Given the description of an element on the screen output the (x, y) to click on. 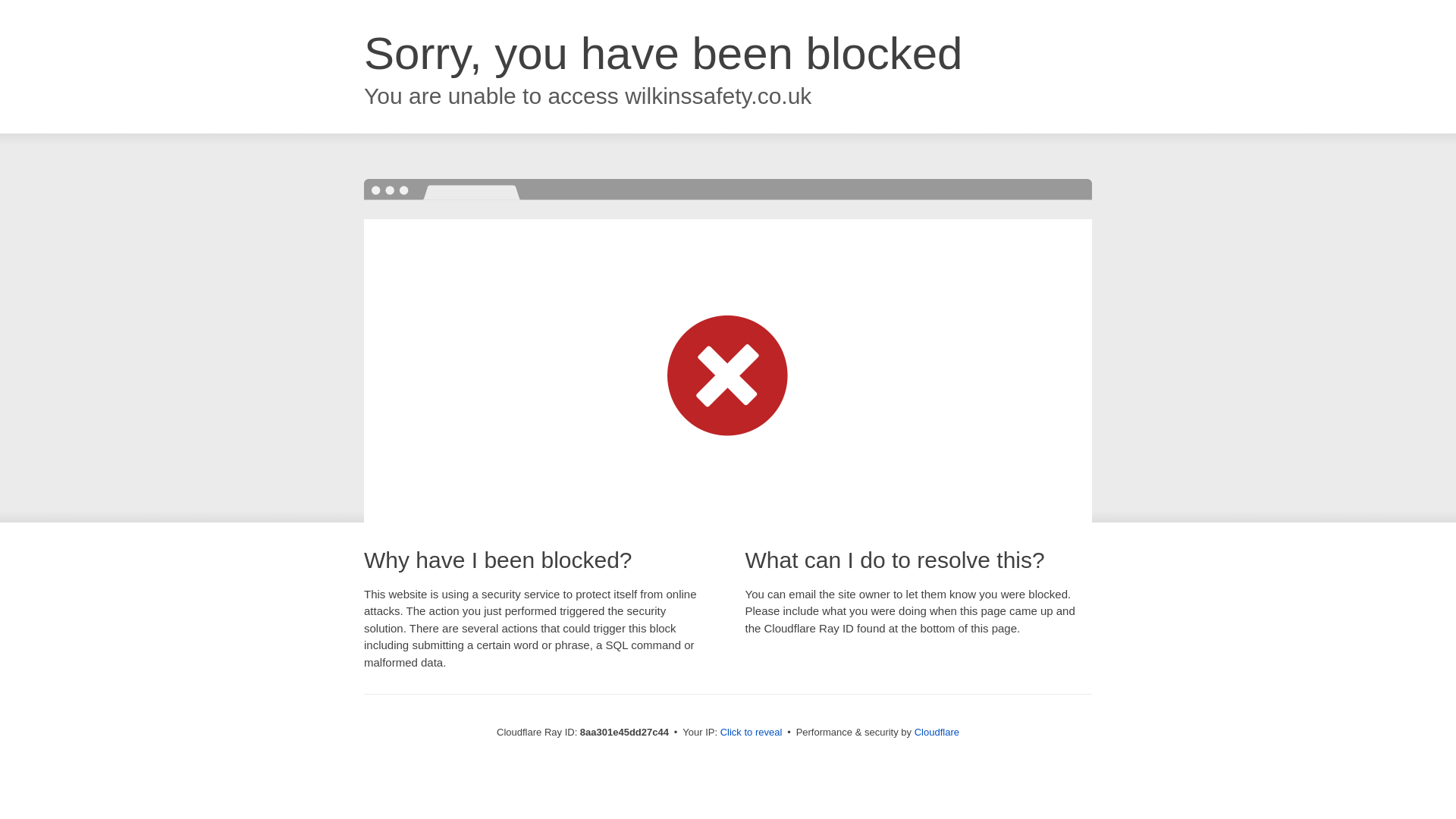
Click to reveal (751, 732)
Cloudflare (936, 731)
